Given the description of an element on the screen output the (x, y) to click on. 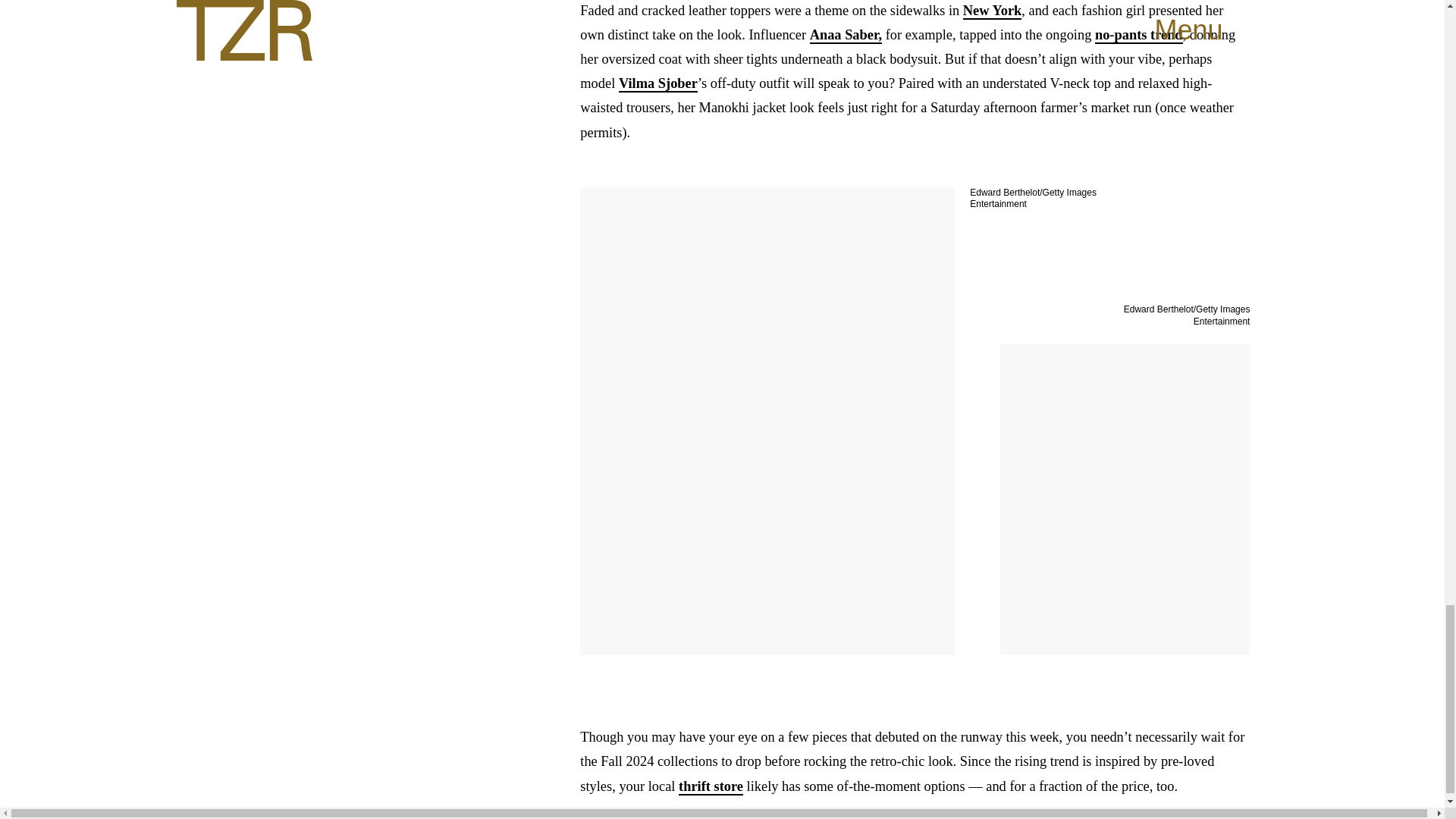
no-pants trend (1138, 35)
thrift store (710, 786)
Vilma Sjober (657, 84)
Anaa Saber, (845, 35)
New York (992, 11)
